Given the description of an element on the screen output the (x, y) to click on. 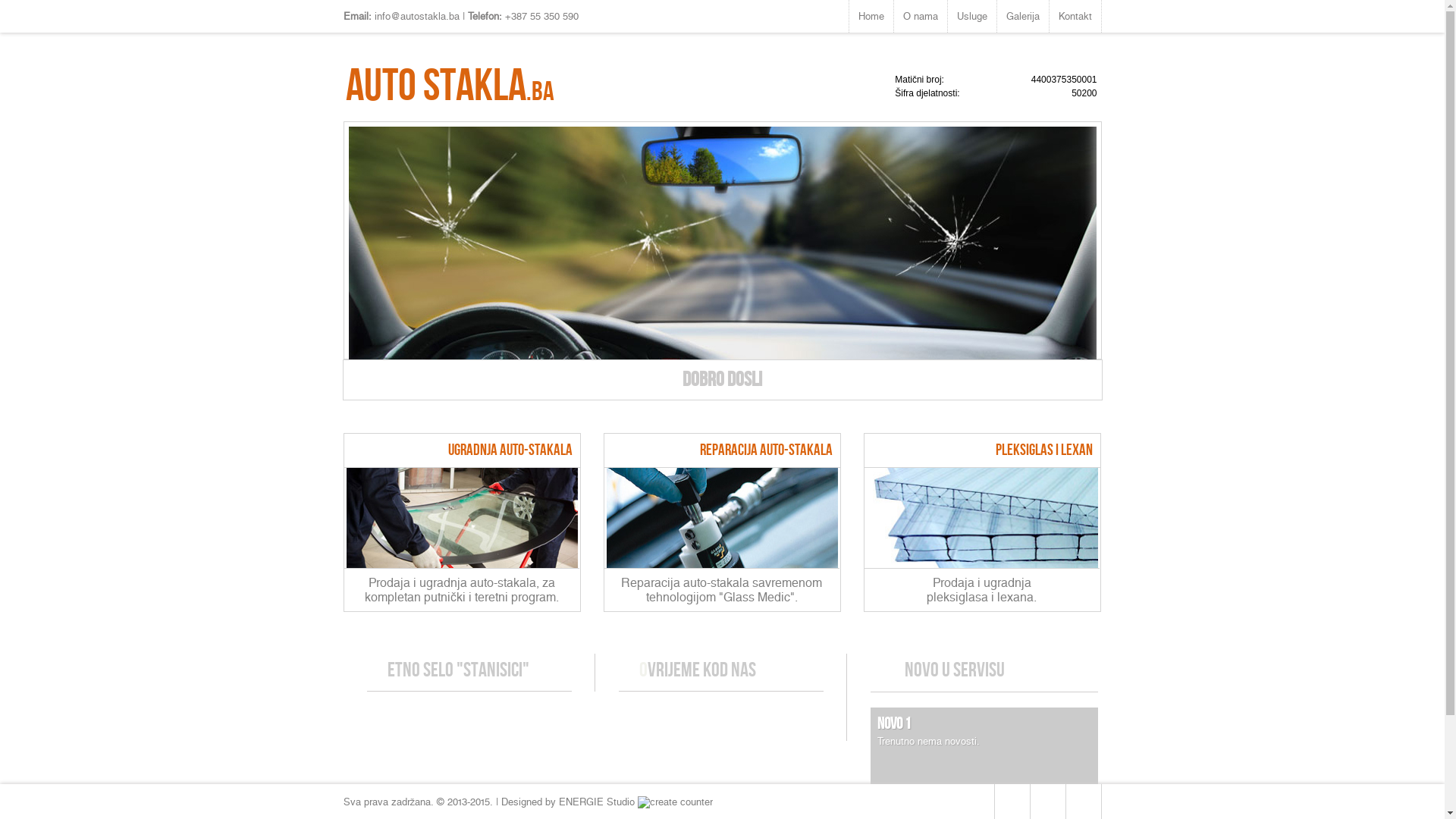
Home Element type: text (871, 15)
Galerija Element type: text (1021, 15)
Reparacija auto-stakala Element type: hover (721, 563)
Kontakt Element type: text (1075, 15)
Usluge Element type: text (972, 15)
O nama Element type: text (919, 15)
create counter Element type: hover (674, 801)
Pleksiglas i leksan Element type: hover (981, 563)
ENERGIE Studio Element type: text (596, 801)
Zamjena auto-stakala Element type: hover (461, 563)
info@autostakla.ba Element type: text (416, 15)
